Given the description of an element on the screen output the (x, y) to click on. 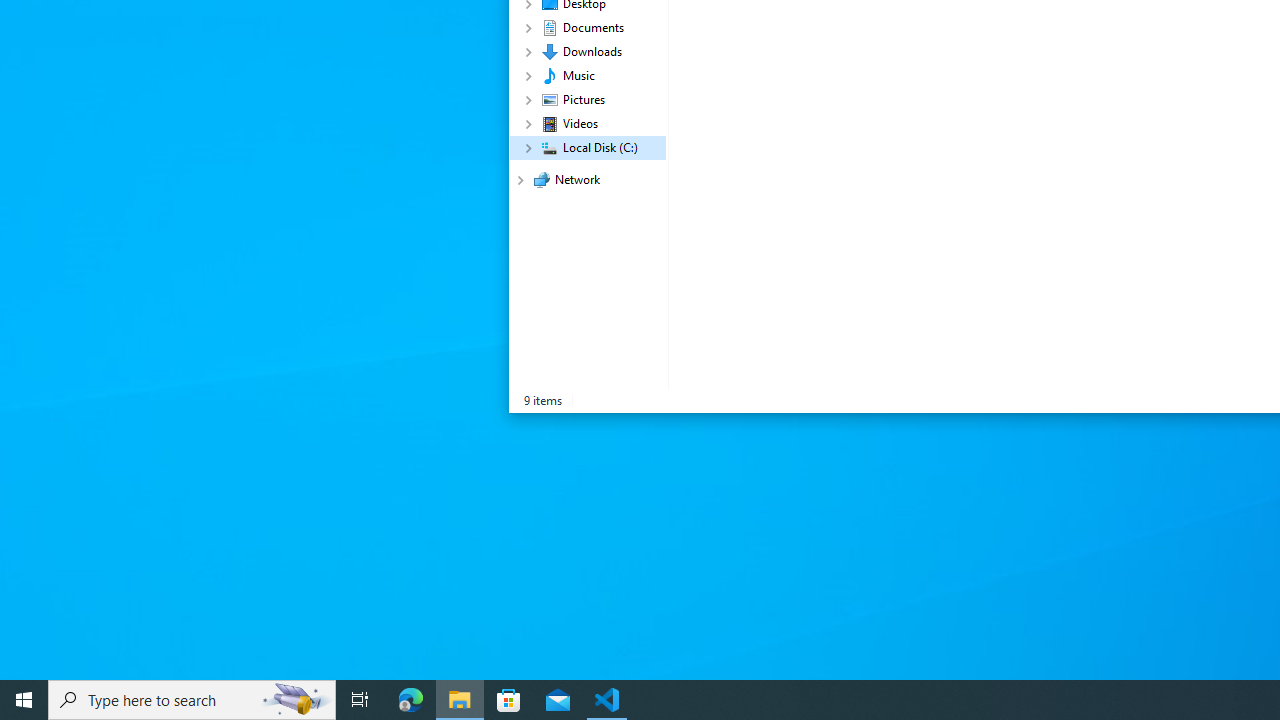
Type here to search (191, 699)
Search highlights icon opens search home window (295, 699)
File Explorer - 1 running window (460, 699)
Microsoft Store (509, 699)
Microsoft Edge (411, 699)
Visual Studio Code - 1 running window (607, 699)
Task View (359, 699)
Start (24, 699)
